Given the description of an element on the screen output the (x, y) to click on. 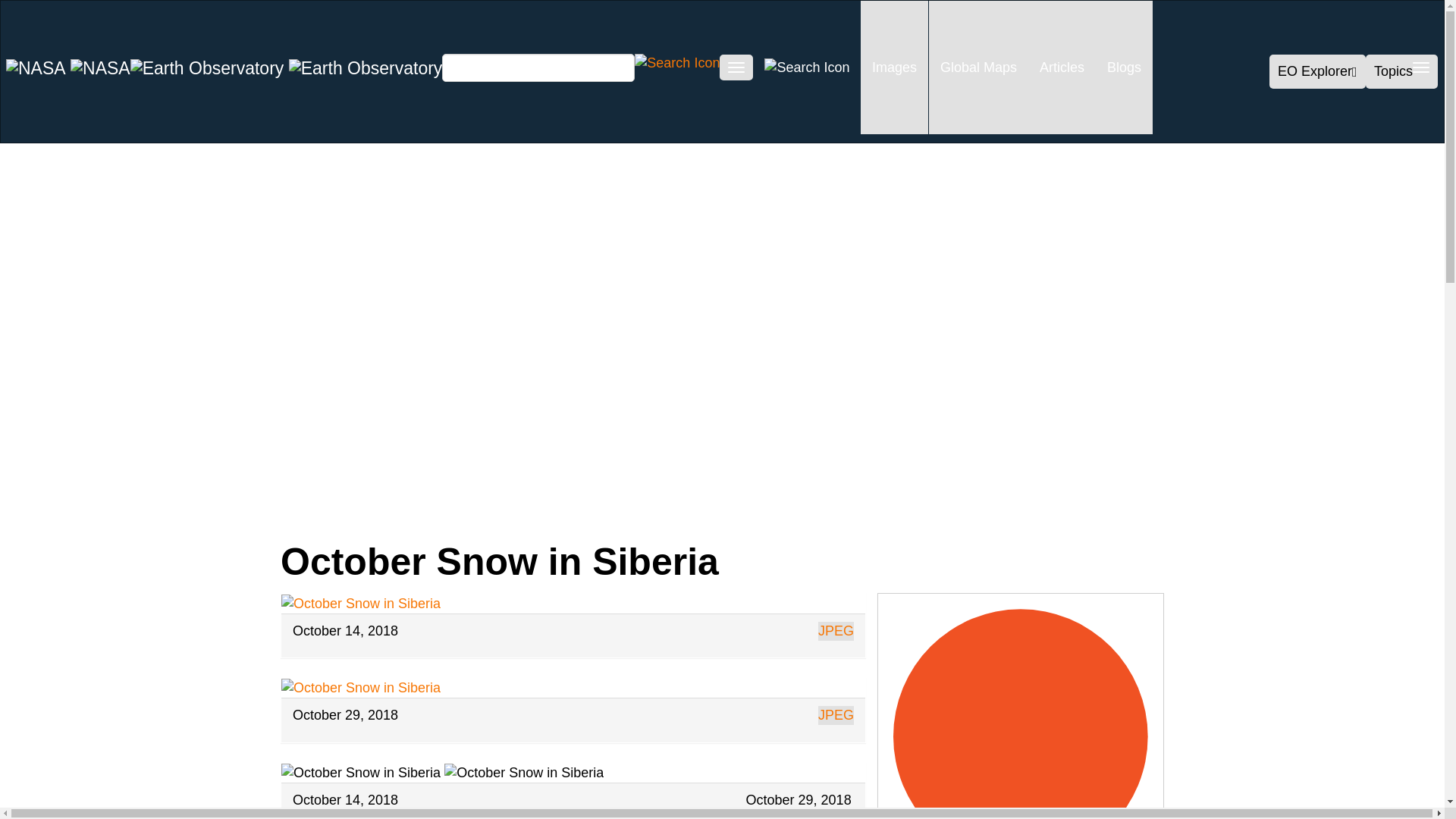
Print (510, 512)
Search (676, 61)
Share (161, 512)
